Given the description of an element on the screen output the (x, y) to click on. 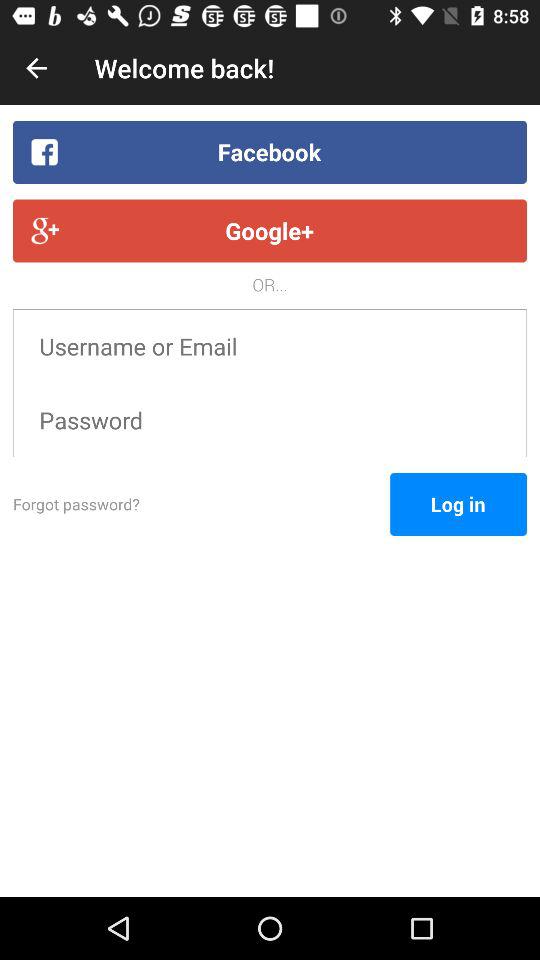
turn off icon above the facebook item (36, 68)
